Given the description of an element on the screen output the (x, y) to click on. 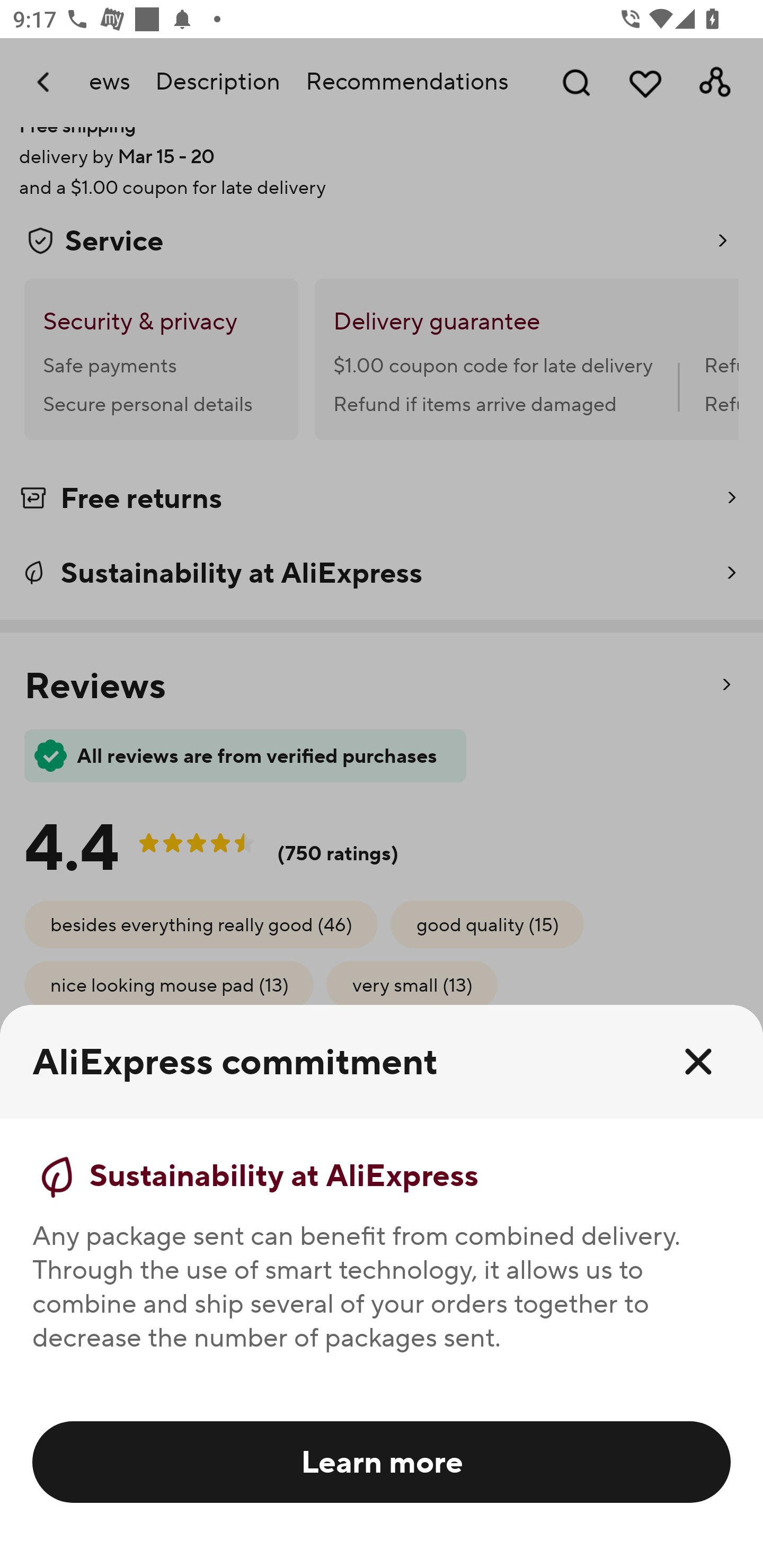
Learn more (381, 1461)
